Given the description of an element on the screen output the (x, y) to click on. 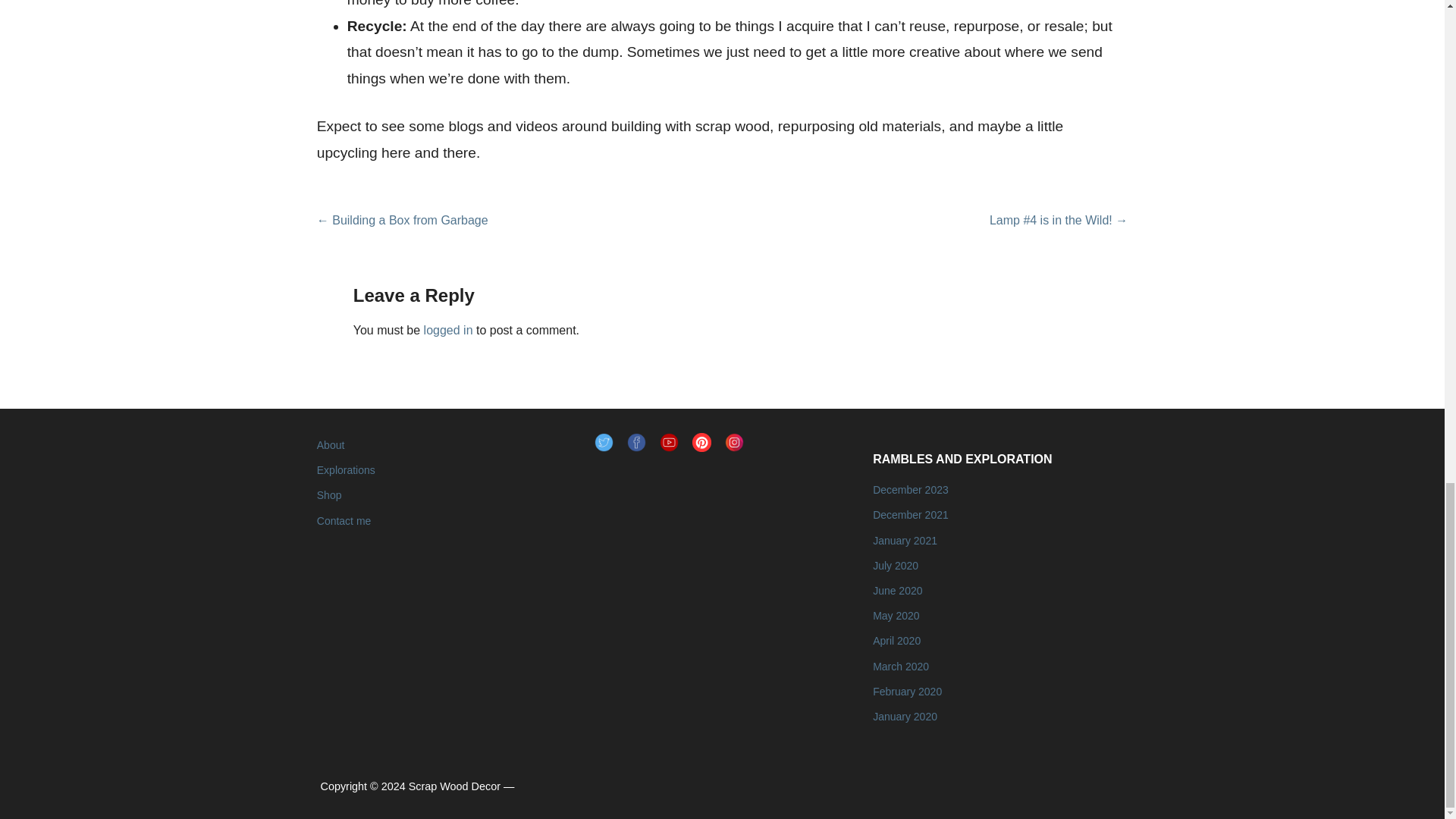
April 2020 (896, 640)
January 2021 (904, 540)
Explorations (346, 469)
February 2020 (907, 691)
March 2020 (900, 666)
Contact me (344, 521)
December 2023 (910, 490)
logged in (448, 329)
January 2020 (904, 716)
May 2020 (895, 615)
